Given the description of an element on the screen output the (x, y) to click on. 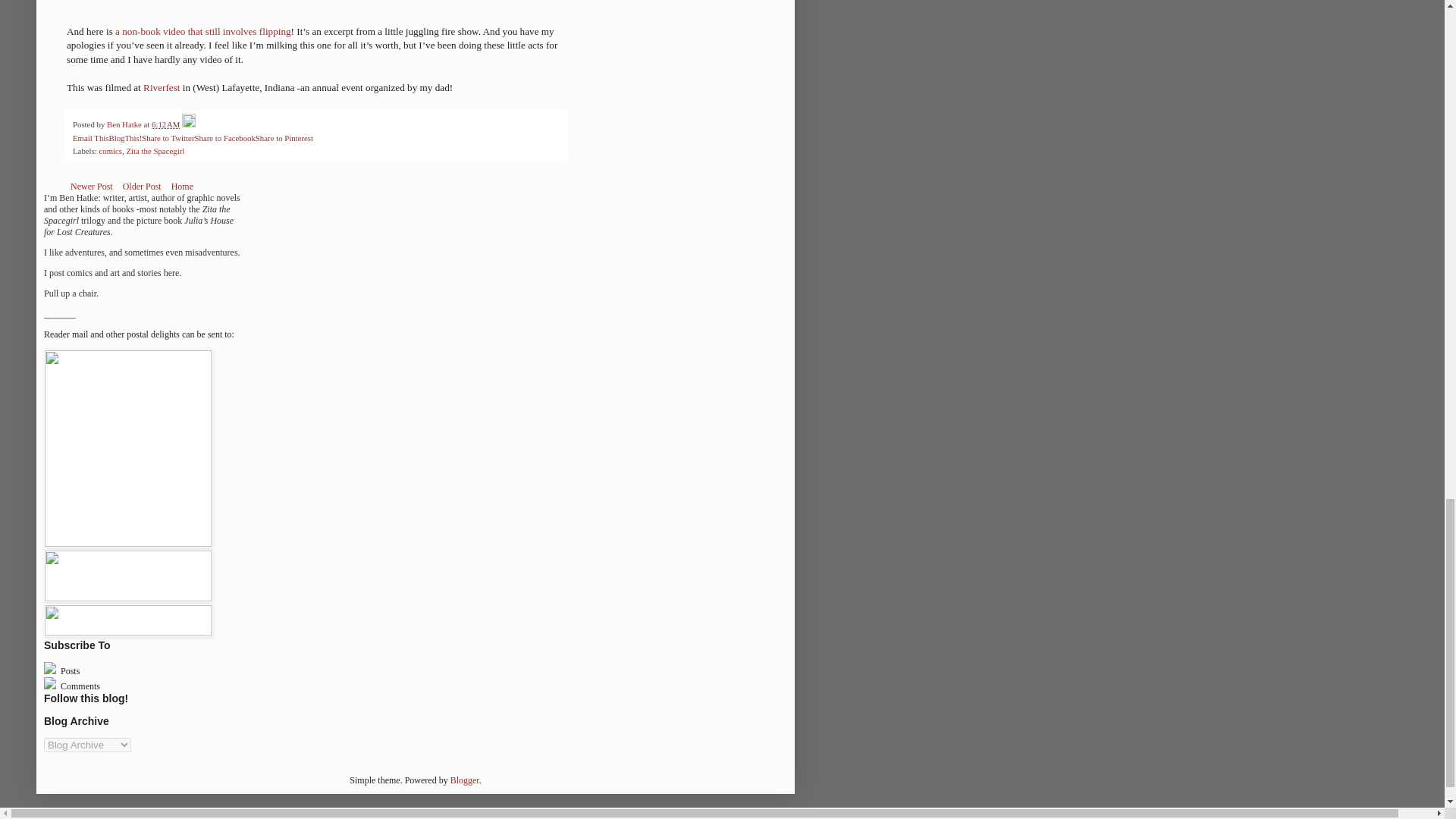
Older Post (142, 186)
Share to Facebook (223, 137)
a non-book video that still involves flipping (203, 30)
Newer Post (91, 186)
Email This (89, 137)
Share to Pinterest (284, 137)
BlogThis! (124, 137)
Email This (89, 137)
Share to Pinterest (284, 137)
Edit Post (188, 123)
Older Post (142, 186)
Blogger (464, 779)
Share to Twitter (167, 137)
Share to Twitter (167, 137)
